Given the description of an element on the screen output the (x, y) to click on. 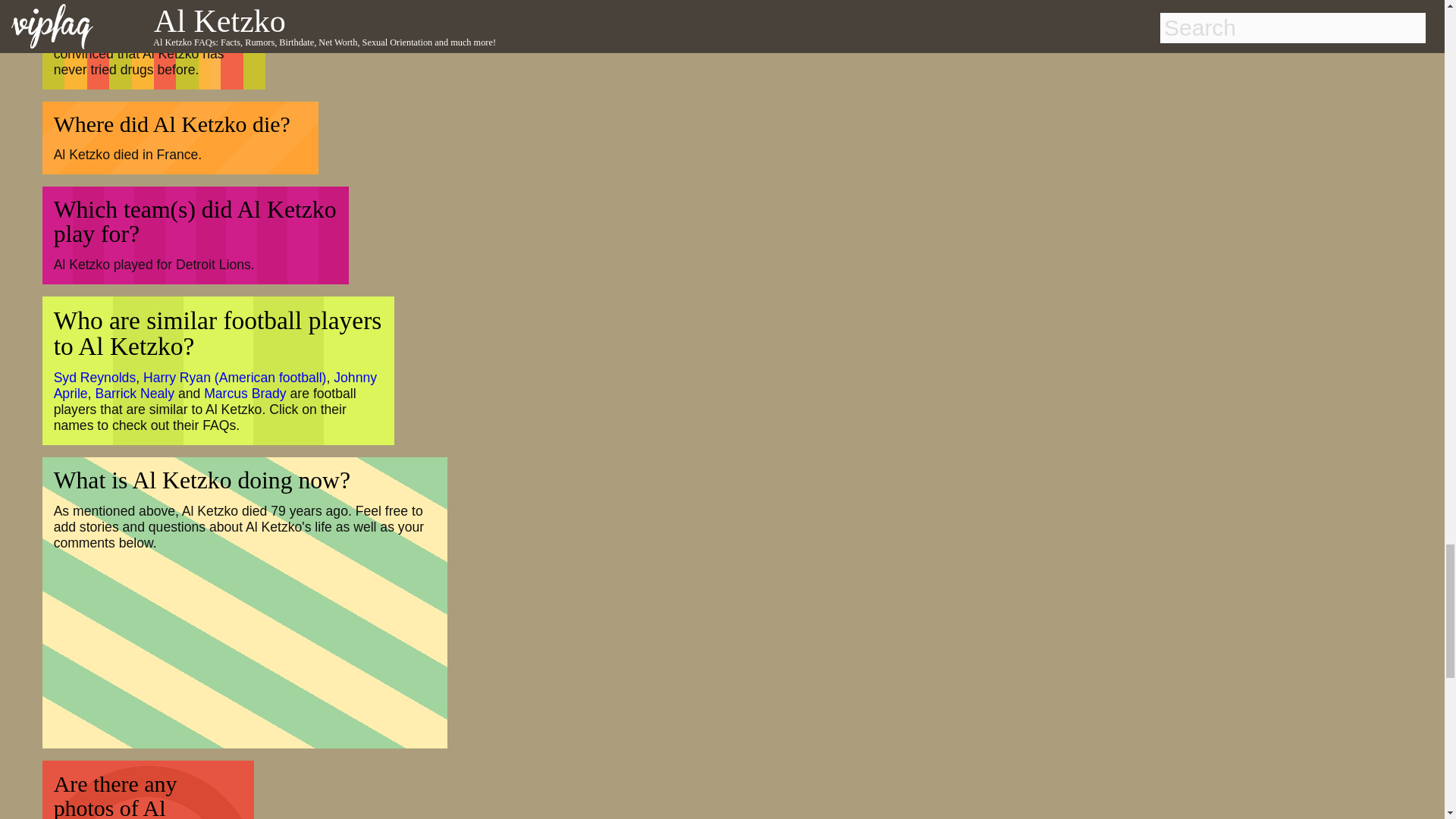
Marcus Brady (244, 393)
Barrick Nealy (134, 393)
Syd Reynolds (94, 377)
Johnny Aprile (215, 385)
